Given the description of an element on the screen output the (x, y) to click on. 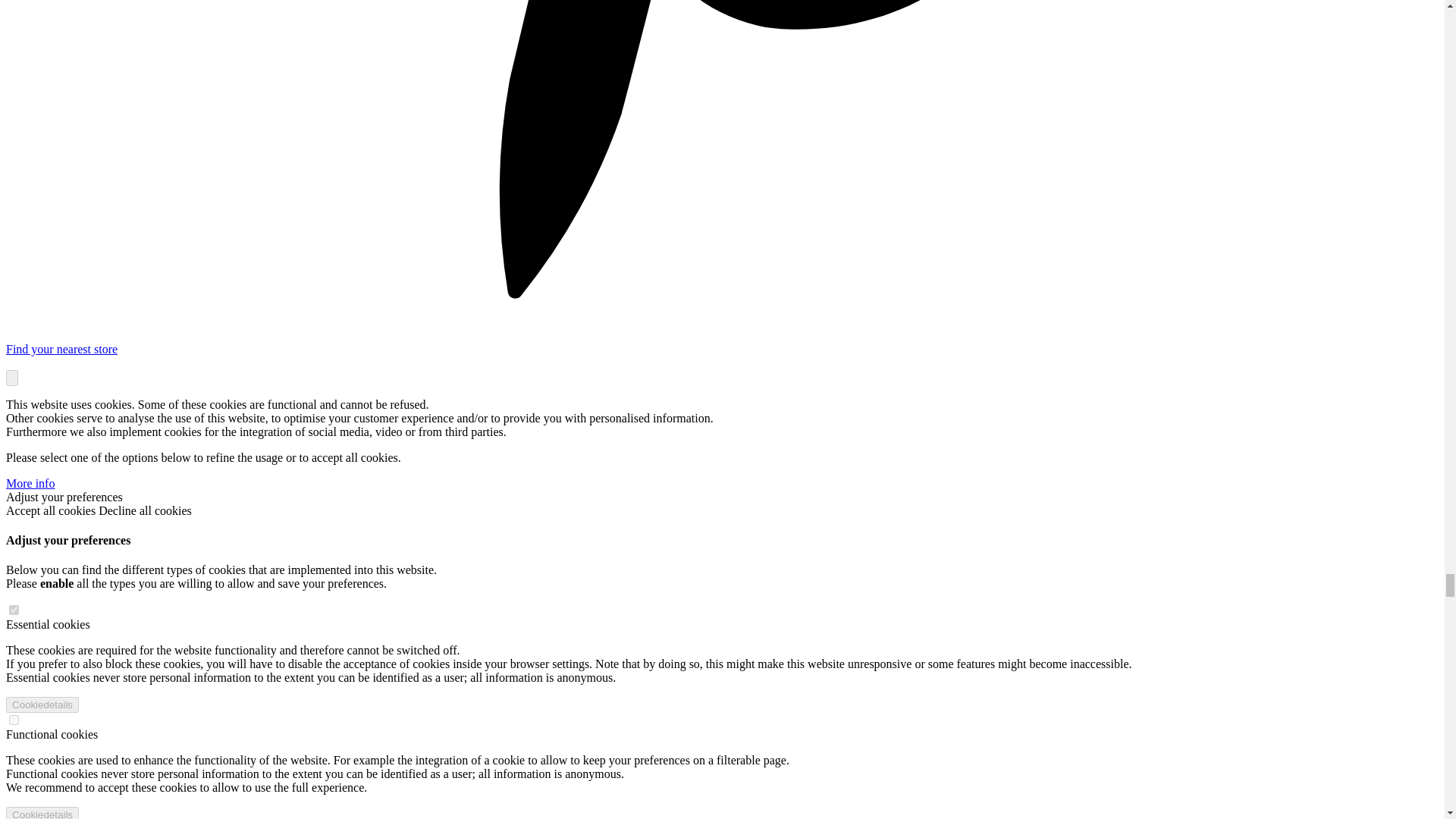
functional (13, 719)
essential (13, 610)
